Given the description of an element on the screen output the (x, y) to click on. 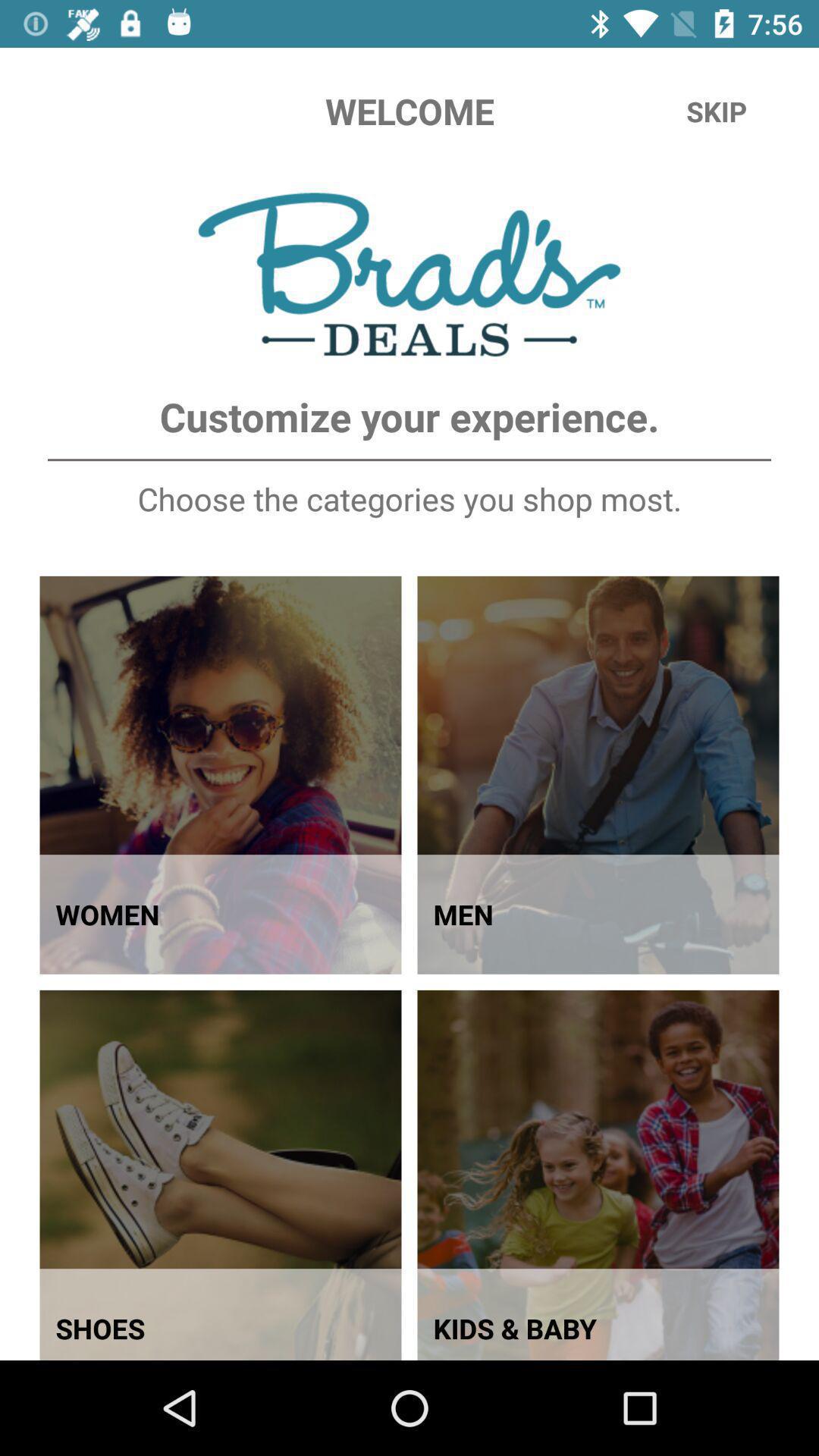
click on men image (598, 775)
click on the skip (716, 111)
select the first image in brads deals (221, 775)
select the shoes box (221, 1174)
choose the fourth category (598, 1174)
